Given the description of an element on the screen output the (x, y) to click on. 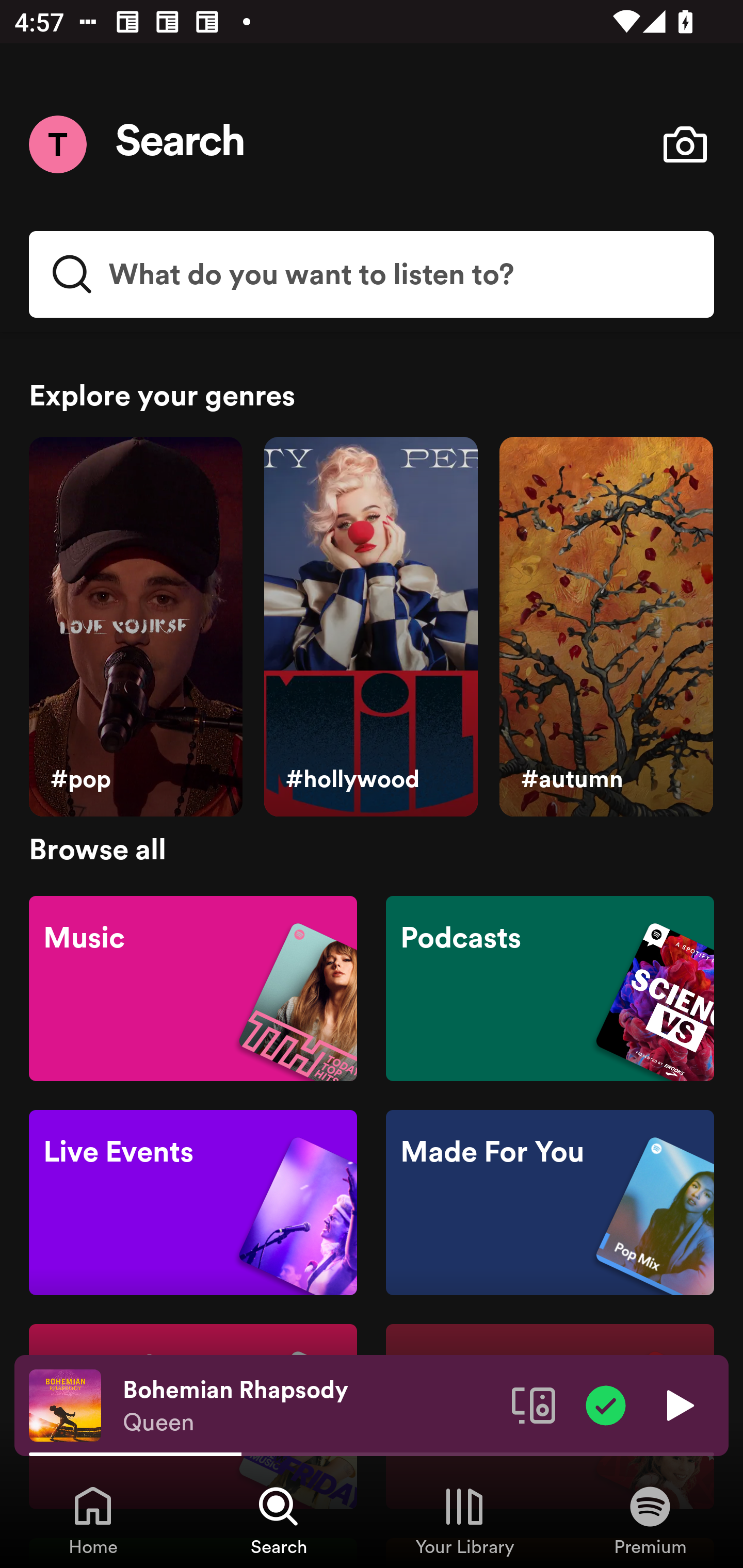
Menu (57, 144)
Open camera (685, 145)
Search (180, 144)
#pop (135, 626)
#hollywood (370, 626)
#autumn (606, 626)
Music (192, 987)
Podcasts (549, 987)
Live Events (192, 1202)
Made For You (549, 1202)
Bohemian Rhapsody Queen (309, 1405)
The cover art of the currently playing track (64, 1404)
Connect to a device. Opens the devices menu (533, 1404)
Item added (605, 1404)
Play (677, 1404)
Home, Tab 1 of 4 Home Home (92, 1519)
Search, Tab 2 of 4 Search Search (278, 1519)
Your Library, Tab 3 of 4 Your Library Your Library (464, 1519)
Premium, Tab 4 of 4 Premium Premium (650, 1519)
